Given the description of an element on the screen output the (x, y) to click on. 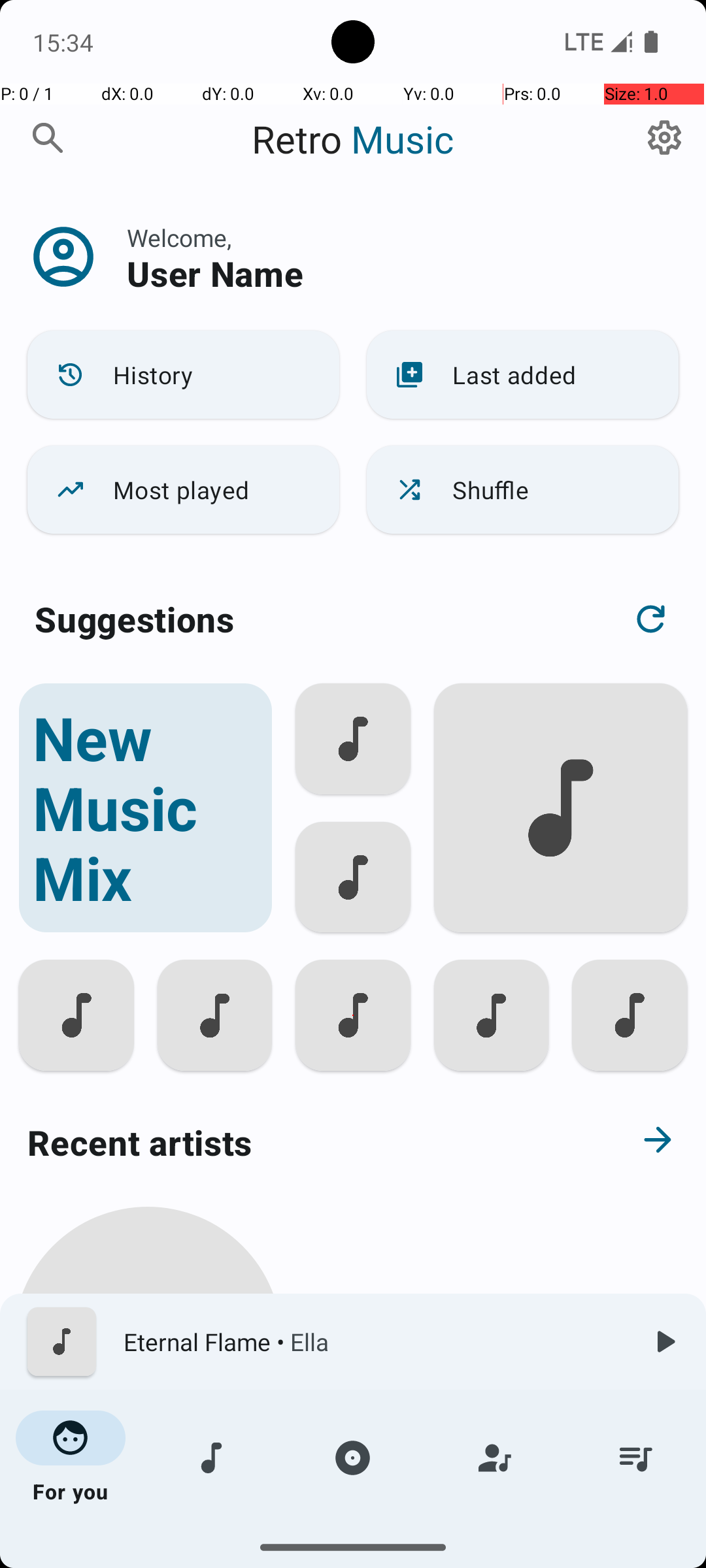
Retro Music Element type: android.widget.TextView (352, 138)
For you Element type: android.widget.FrameLayout (70, 1457)
Songs Element type: android.widget.FrameLayout (211, 1457)
Albums Element type: android.widget.FrameLayout (352, 1457)
Artists Element type: android.widget.FrameLayout (493, 1457)
Playlists Element type: android.widget.FrameLayout (635, 1457)
Welcome, Element type: android.widget.TextView (179, 237)
User Name Element type: android.widget.TextView (214, 273)
Eternal Flame • Ella Element type: android.widget.TextView (372, 1341)
Last added Element type: android.widget.Button (522, 374)
Most played Element type: android.widget.Button (183, 489)
Shuffle Element type: android.widget.Button (522, 489)
Suggestions Element type: android.widget.TextView (134, 618)
New Music Mix Element type: android.widget.TextView (144, 807)
Recent artists Element type: android.widget.TextView (304, 1141)
Recent albums Element type: android.widget.TextView (304, 1557)
Martin Element type: android.widget.TextView (147, 1503)
